Given the description of an element on the screen output the (x, y) to click on. 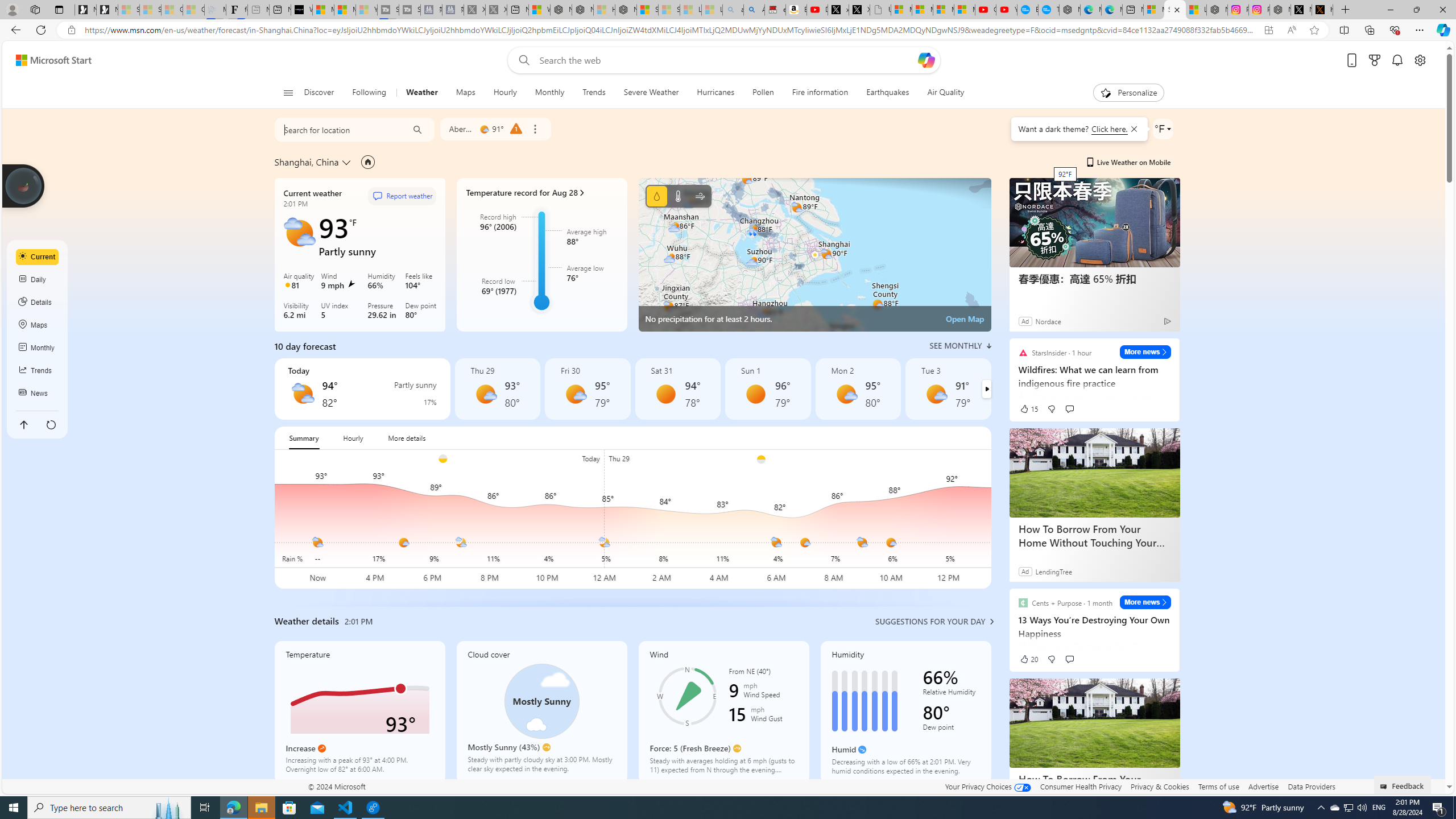
Severe Weather (651, 92)
